Given the description of an element on the screen output the (x, y) to click on. 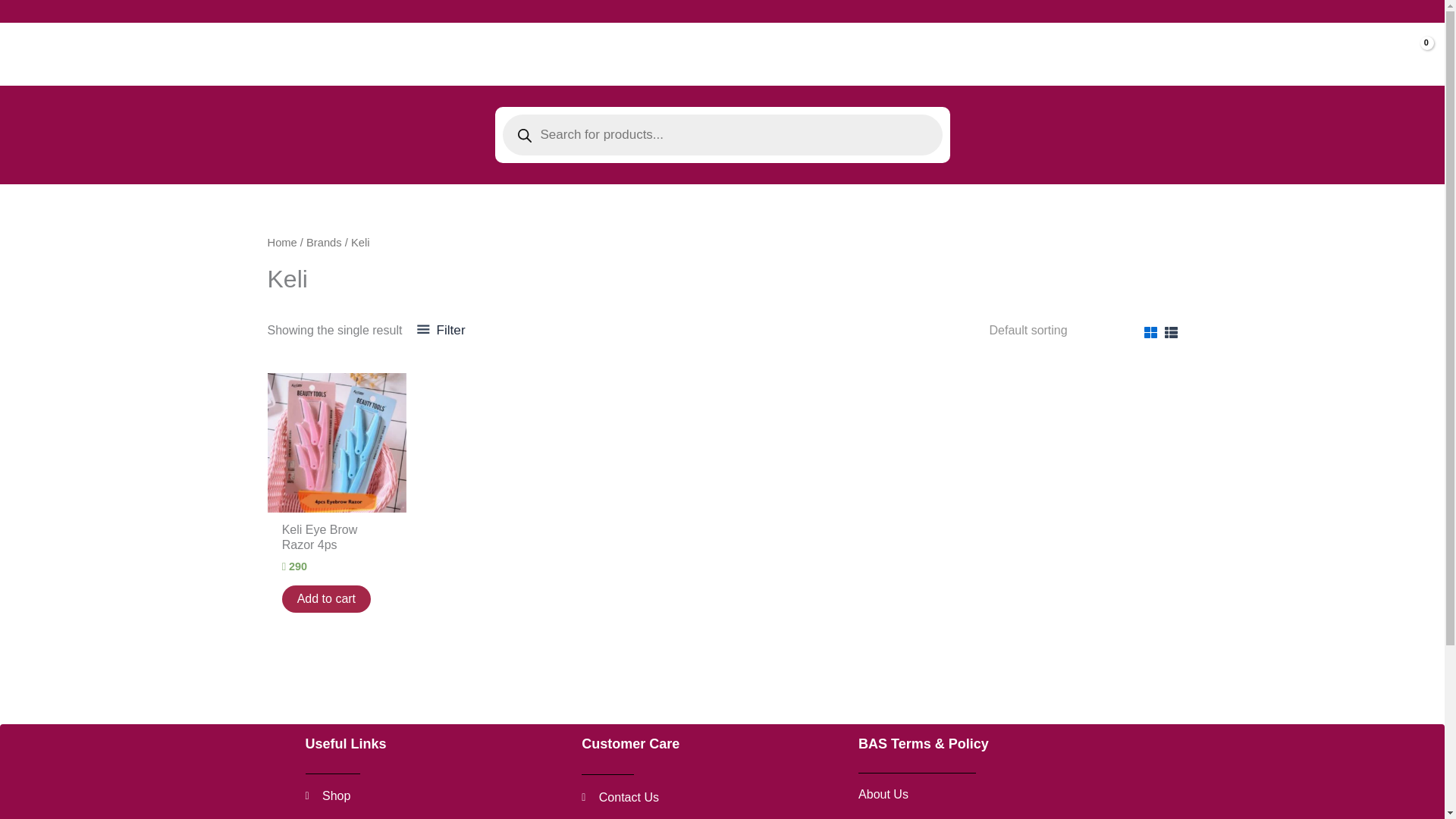
Add to cart (50, 53)
Keli Eye Brow Razor 4ps (326, 598)
Filter (336, 541)
Contact Us (440, 330)
Home (711, 797)
Shop (281, 242)
BD Amajan Shop (435, 795)
Privacy Policy (1005, 793)
